Given the description of an element on the screen output the (x, y) to click on. 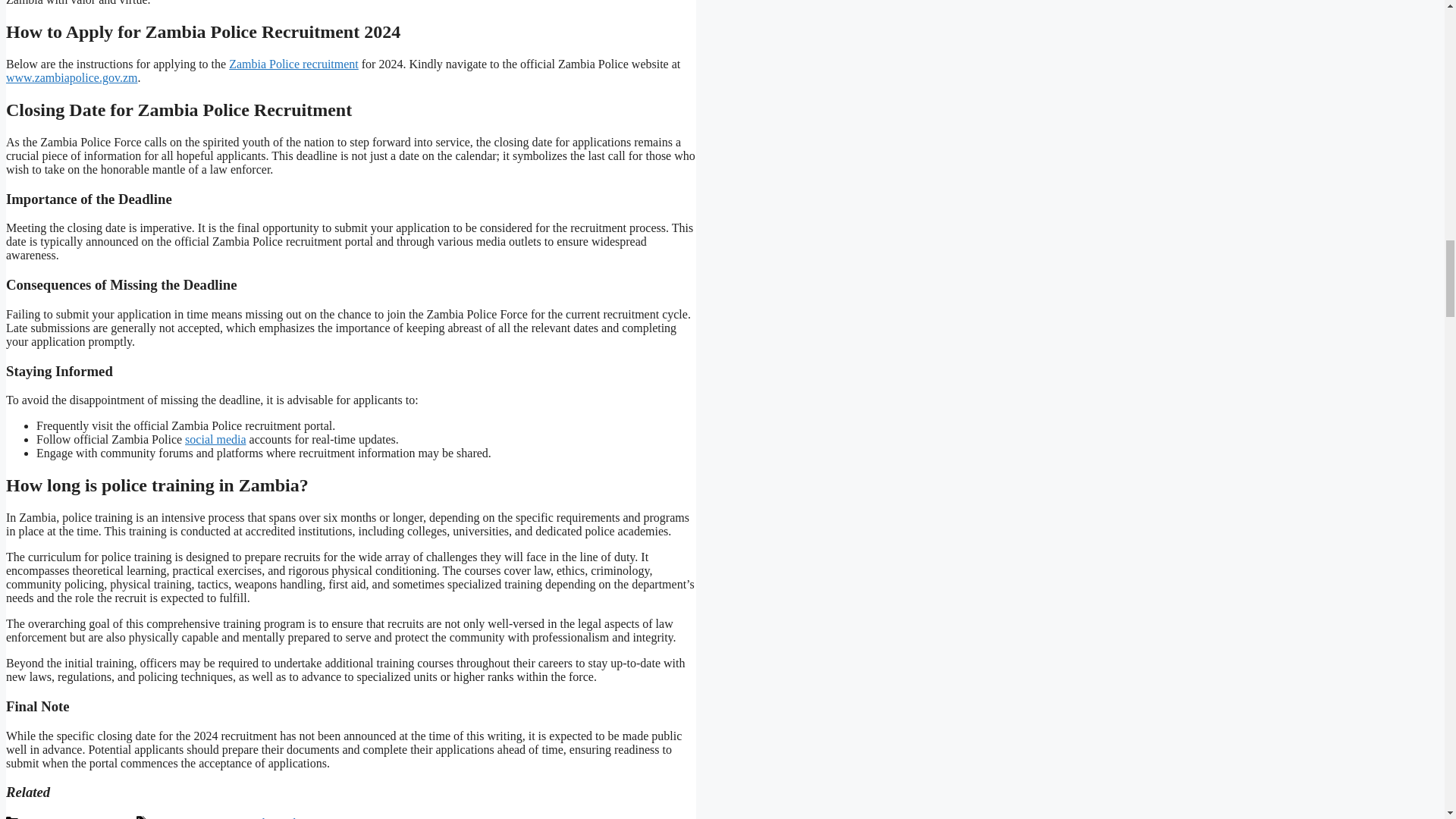
Recruitment (204, 817)
Zambia Police recruitment (293, 63)
social media (215, 439)
Zambia Police Recruitment (307, 817)
www.zambiapolice.gov.zm (70, 77)
Recruitment (102, 817)
